Given the description of an element on the screen output the (x, y) to click on. 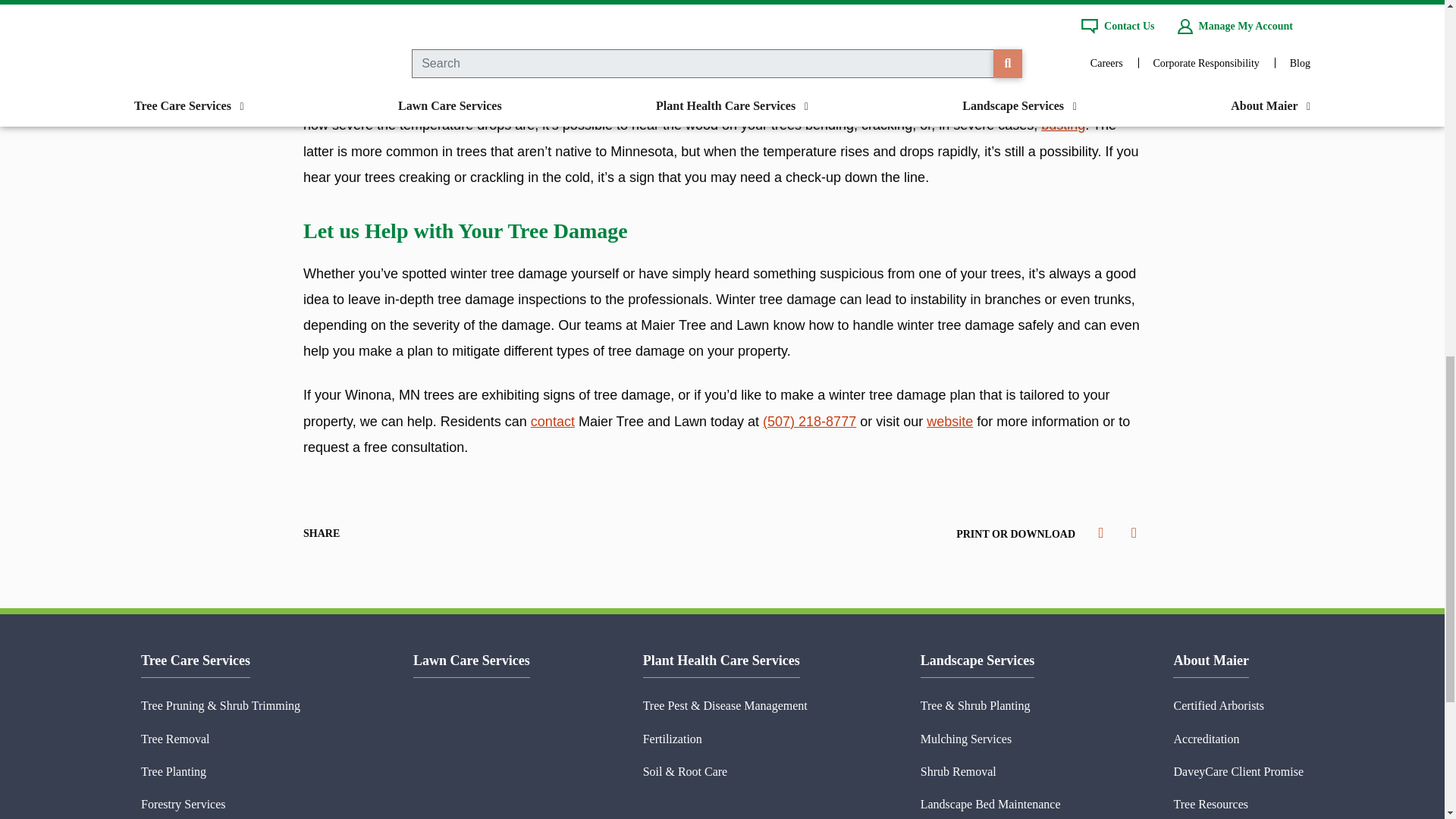
Opens in a new window (1062, 124)
Opens in a new window (357, 531)
Opens in a new window (390, 531)
Opens in a new window (949, 421)
Opens in a new window (424, 531)
